Given the description of an element on the screen output the (x, y) to click on. 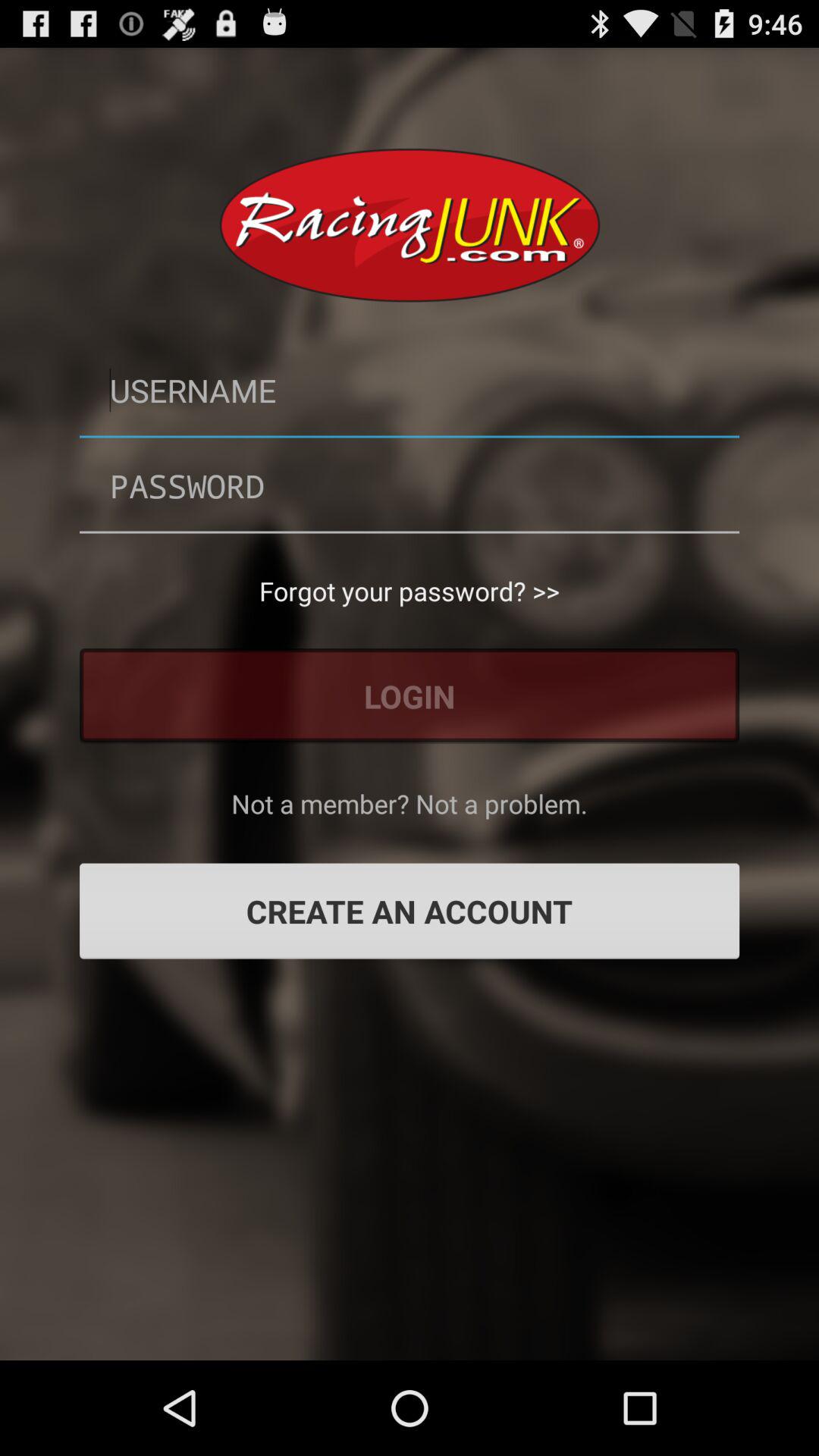
user enter name option (409, 389)
